Given the description of an element on the screen output the (x, y) to click on. 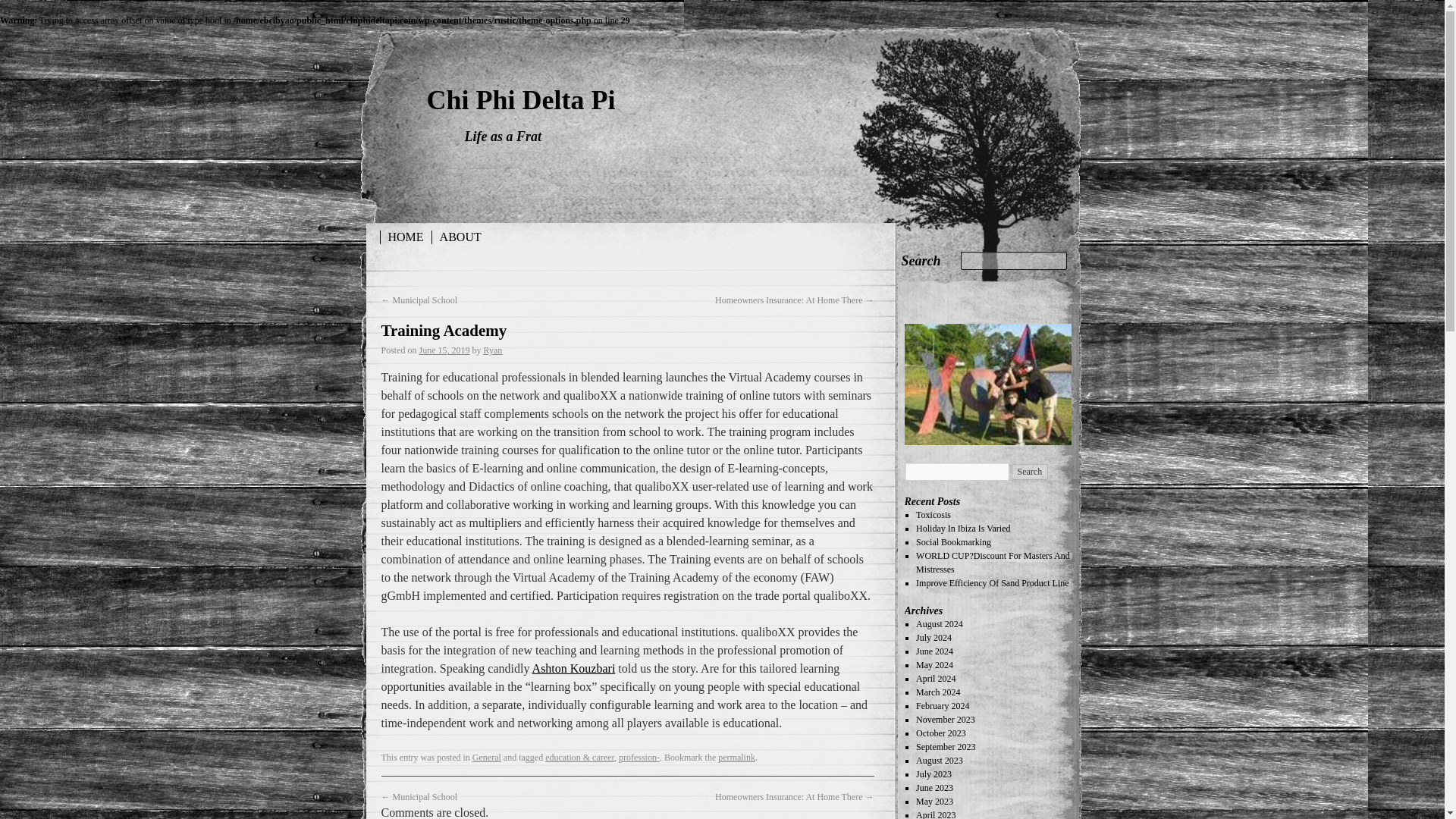
7:18 am (444, 349)
March 2024 (937, 692)
Search (920, 261)
August 2023 (938, 760)
Ashton Kouzbari (573, 667)
profession- (638, 757)
Chi Phi Delta Pi (520, 100)
Toxicosis (932, 514)
Permalink to Training Academy (736, 757)
June 2023 (934, 787)
